Given the description of an element on the screen output the (x, y) to click on. 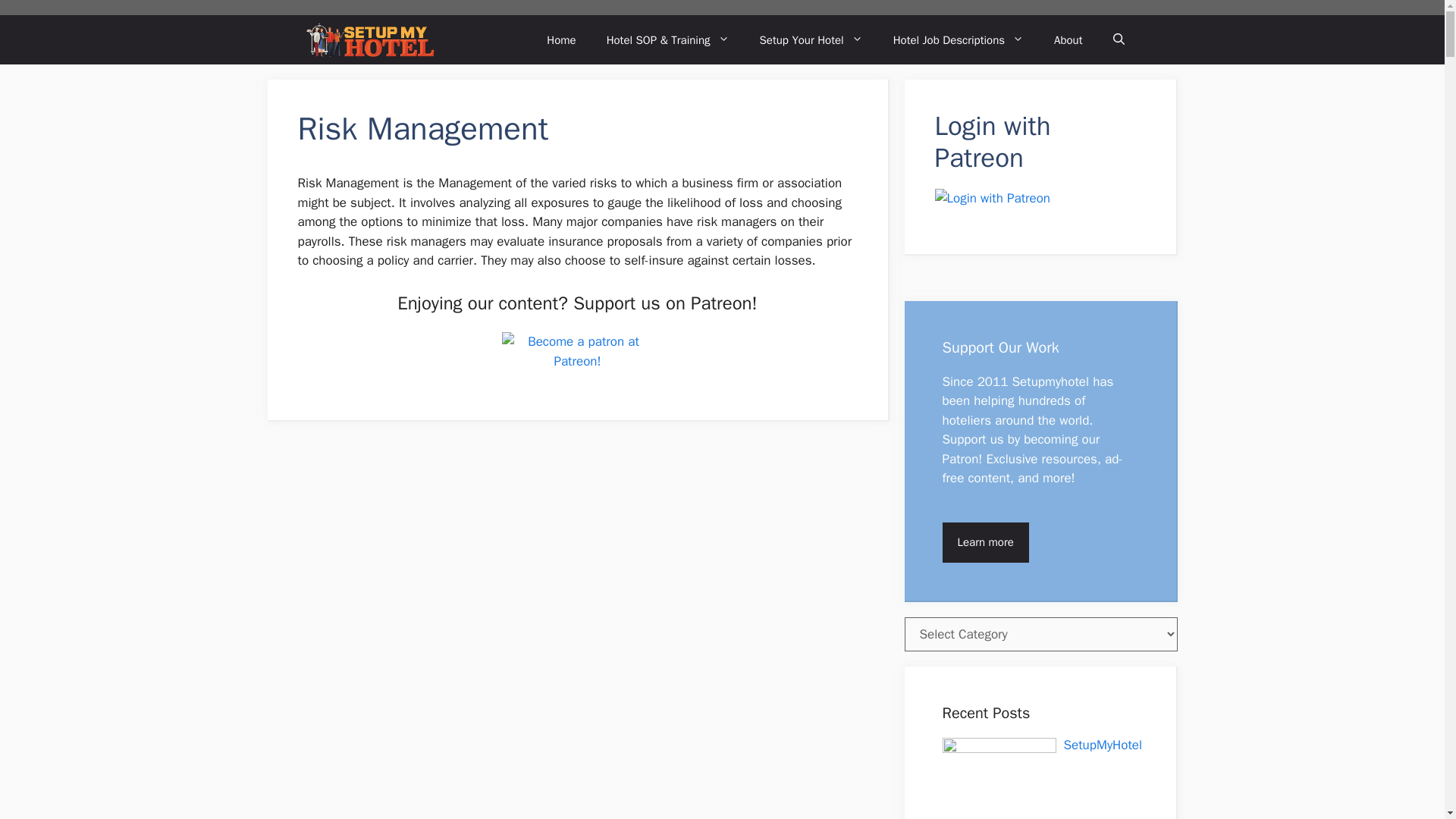
Setup Your Hotel (810, 39)
Home (561, 39)
SetupMyHotel (368, 39)
Hotel Job Descriptions (958, 39)
